Given the description of an element on the screen output the (x, y) to click on. 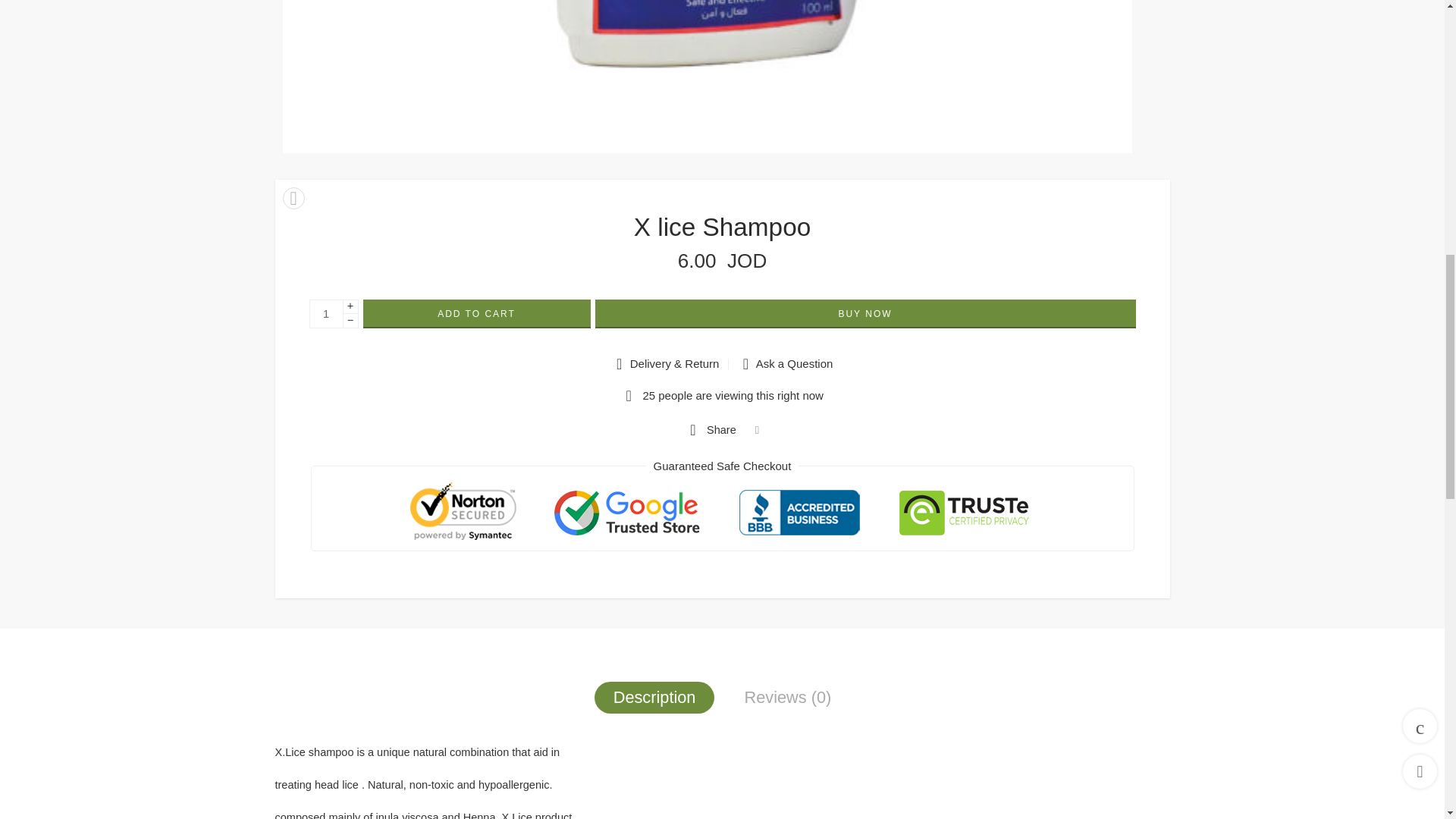
BUY NOW (864, 313)
1 (325, 313)
ADD TO CART (475, 313)
 Ask a Question (785, 363)
1 (706, 76)
Description (654, 697)
